Given the description of an element on the screen output the (x, y) to click on. 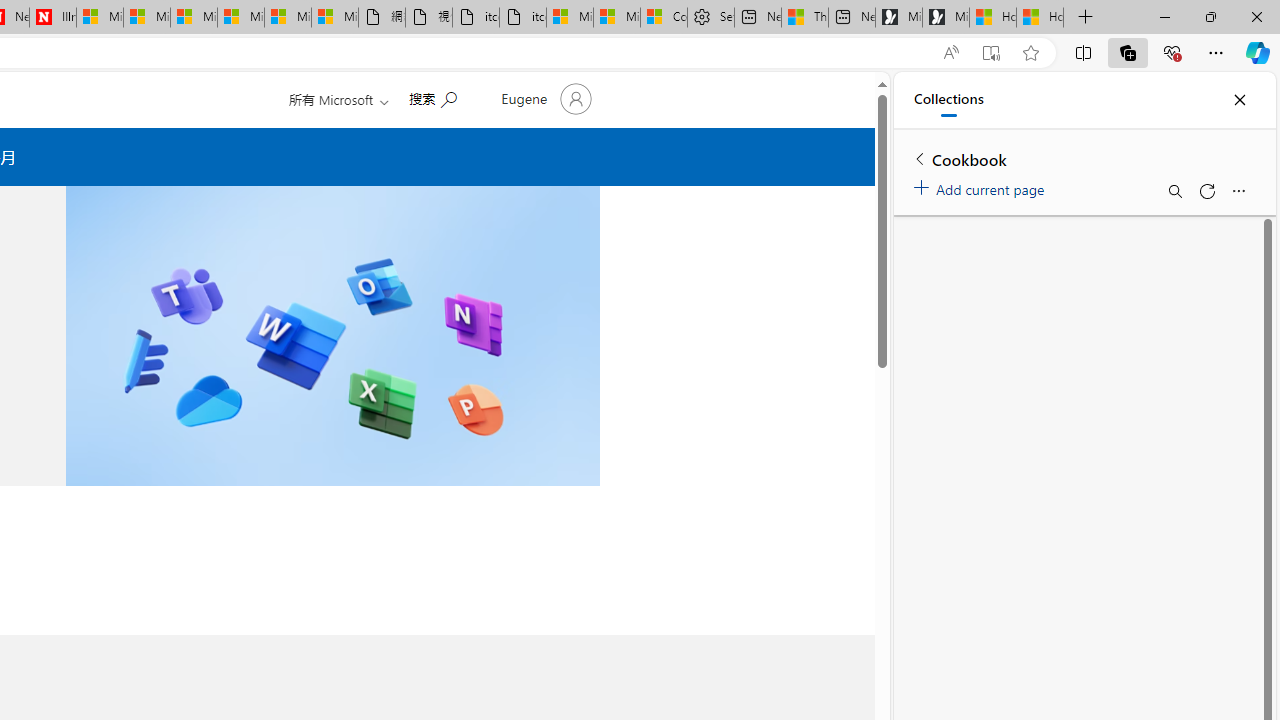
itconcepthk.com/projector_solutions.mp4 (523, 17)
How to Use a TV as a Computer Monitor (1040, 17)
Illness news & latest pictures from Newsweek.com (52, 17)
Three Ways To Stop Sweating So Much (805, 17)
More options menu (1238, 190)
